Given the description of an element on the screen output the (x, y) to click on. 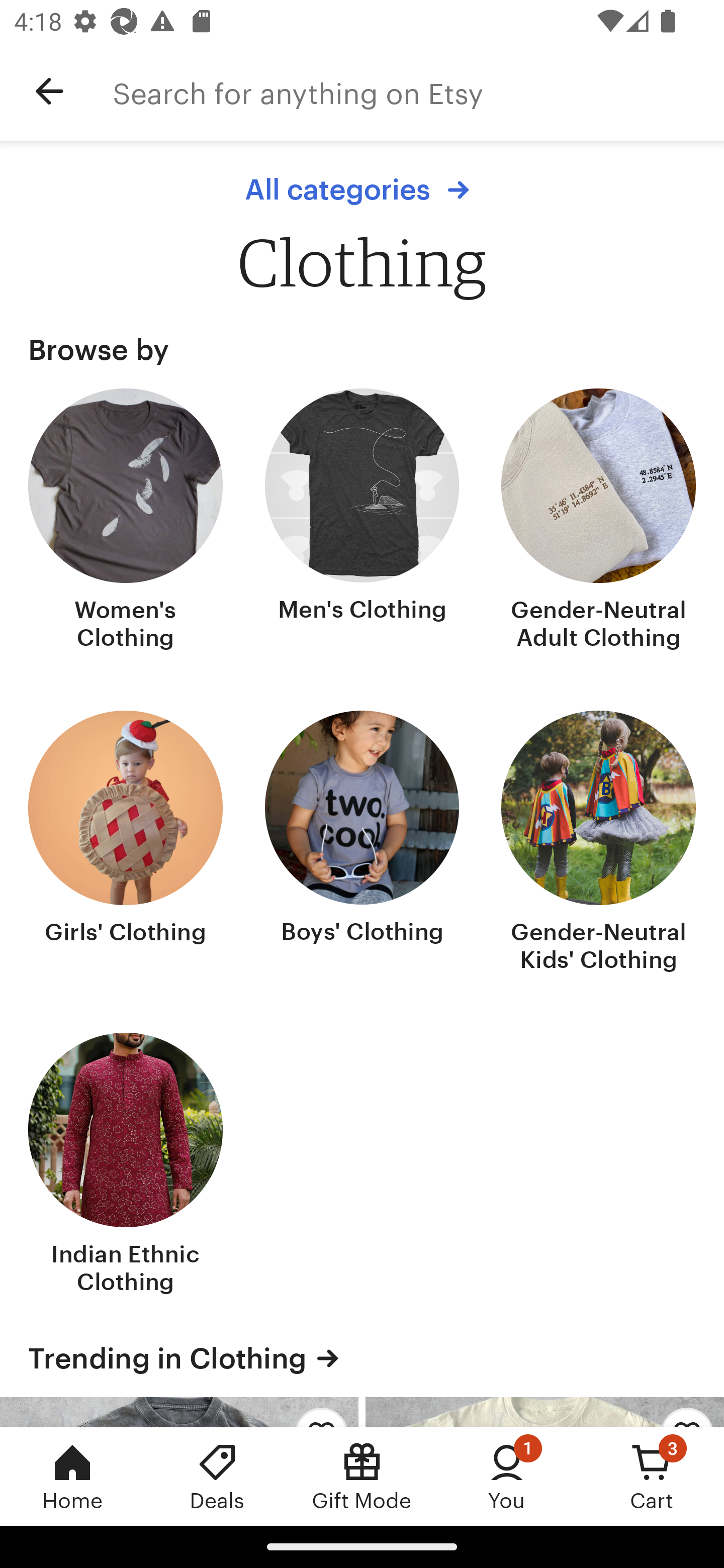
Navigate up (49, 91)
Search for anything on Etsy (418, 91)
All categories (361, 189)
Women's Clothing (125, 520)
Men's Clothing (361, 520)
Gender-Neutral Adult Clothing (598, 520)
Girls' Clothing (125, 843)
Boys' Clothing (361, 843)
Gender-Neutral Kids' Clothing (598, 843)
Indian Ethnic Clothing (125, 1165)
Trending in Clothing  (361, 1358)
Deals (216, 1475)
Gift Mode (361, 1475)
You, 1 new notification You (506, 1475)
Cart, 3 new notifications Cart (651, 1475)
